Given the description of an element on the screen output the (x, y) to click on. 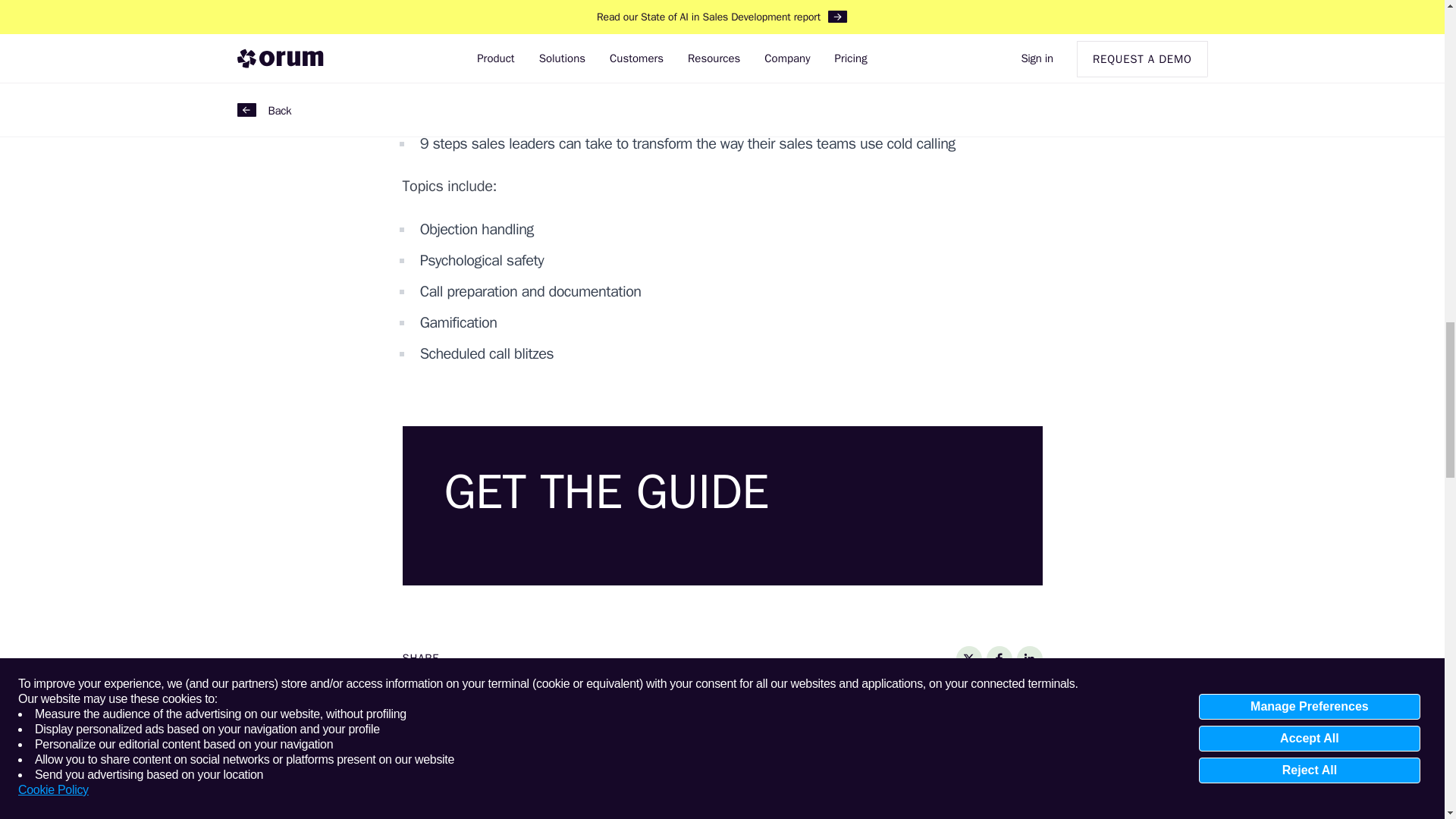
GET THE GUIDE (721, 505)
